Given the description of an element on the screen output the (x, y) to click on. 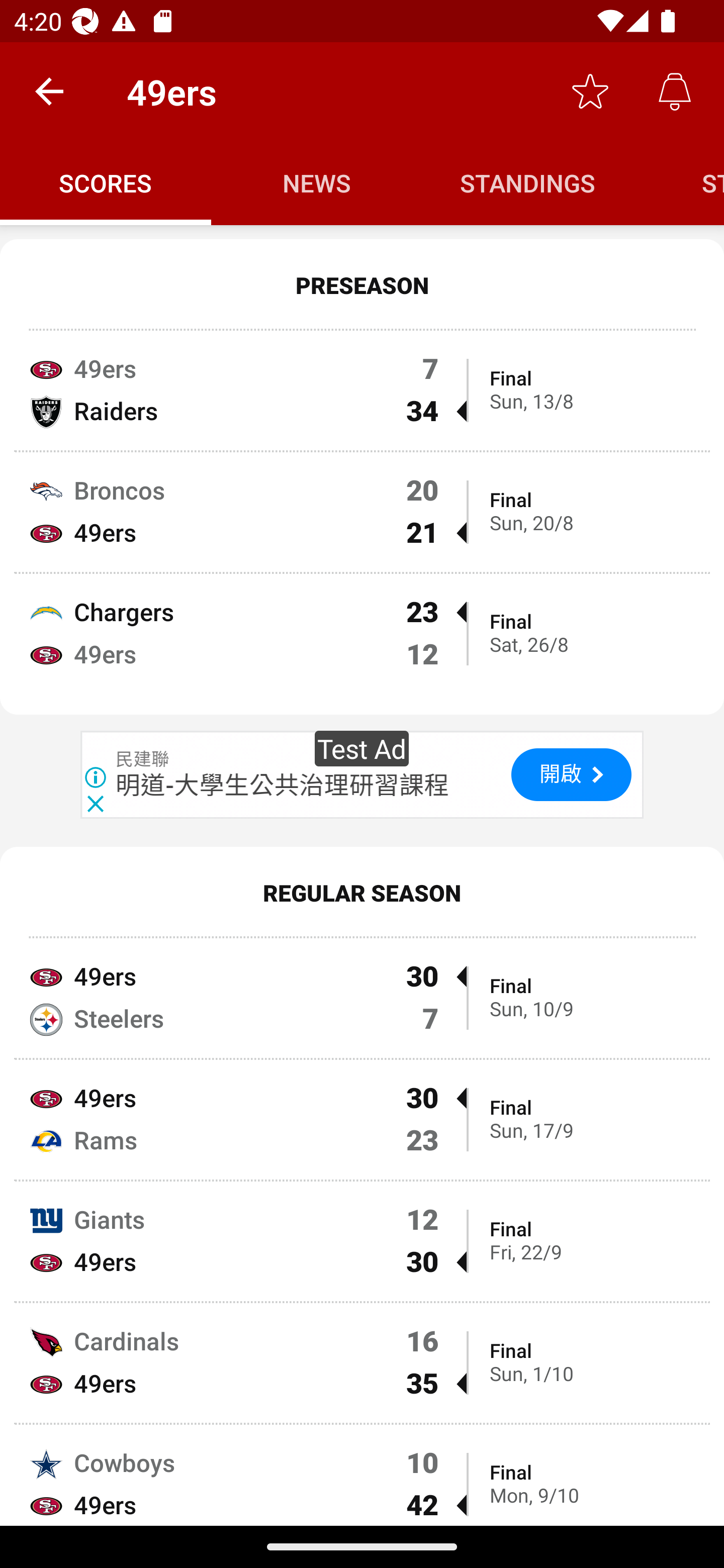
back.button (49, 90)
Favorite toggle (590, 90)
Alerts (674, 90)
News NEWS (316, 183)
Standings STANDINGS (527, 183)
PRESEASON (362, 284)
49ers 7 Raiders 34  Final Sun, 13/8 (362, 388)
Broncos 20 49ers 21  Final Sun, 20/8 (362, 511)
Chargers 23  49ers 12 Final Sat, 26/8 (362, 644)
民建聯 (142, 759)
開啟 (570, 774)
明道-大學生公共治理研習課程 (282, 785)
REGULAR SEASON (362, 891)
49ers 30  Steelers 7 Final Sun, 10/9 (362, 996)
49ers 30  Rams 23 Final Sun, 17/9 (362, 1119)
Giants 12 49ers 30  Final Fri, 22/9 (362, 1241)
Cardinals 16 49ers 35  Final Sun, 1/10 (362, 1362)
Cowboys 10 49ers 42  Final Mon, 9/10 (362, 1475)
